Given the description of an element on the screen output the (x, y) to click on. 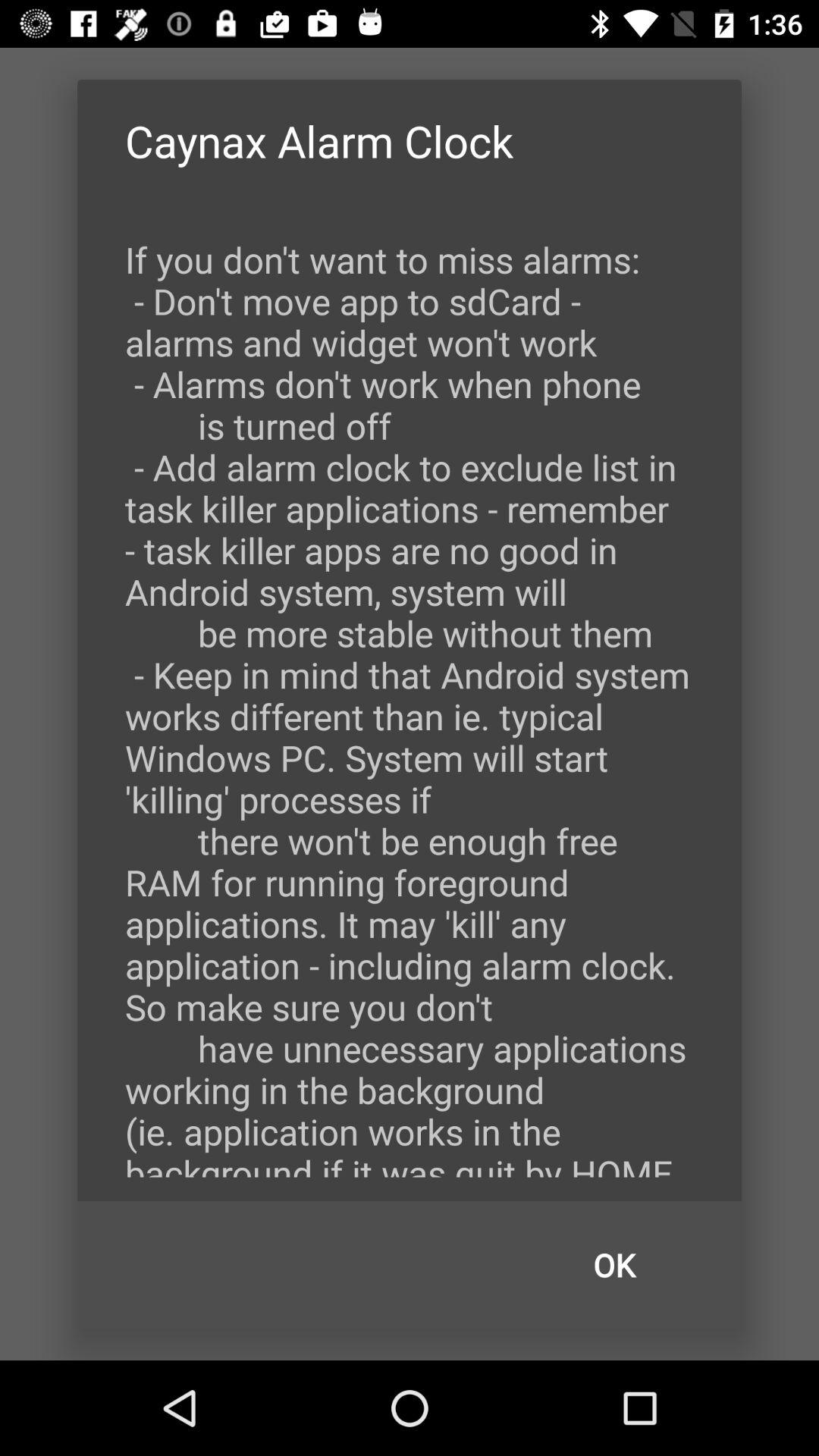
swipe to the ok item (613, 1264)
